Given the description of an element on the screen output the (x, y) to click on. 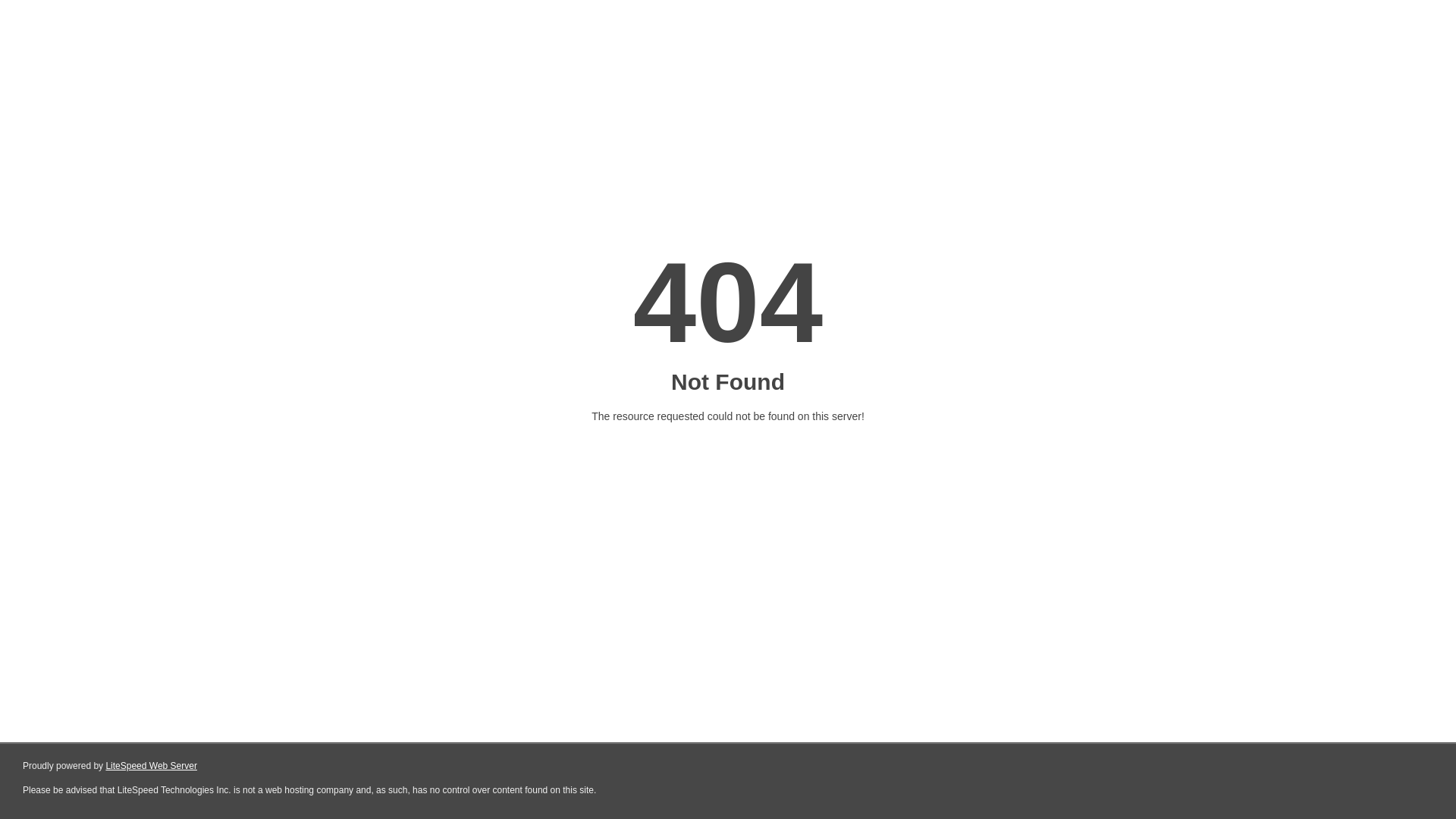
LiteSpeed Web Server Element type: text (151, 765)
